Given the description of an element on the screen output the (x, y) to click on. 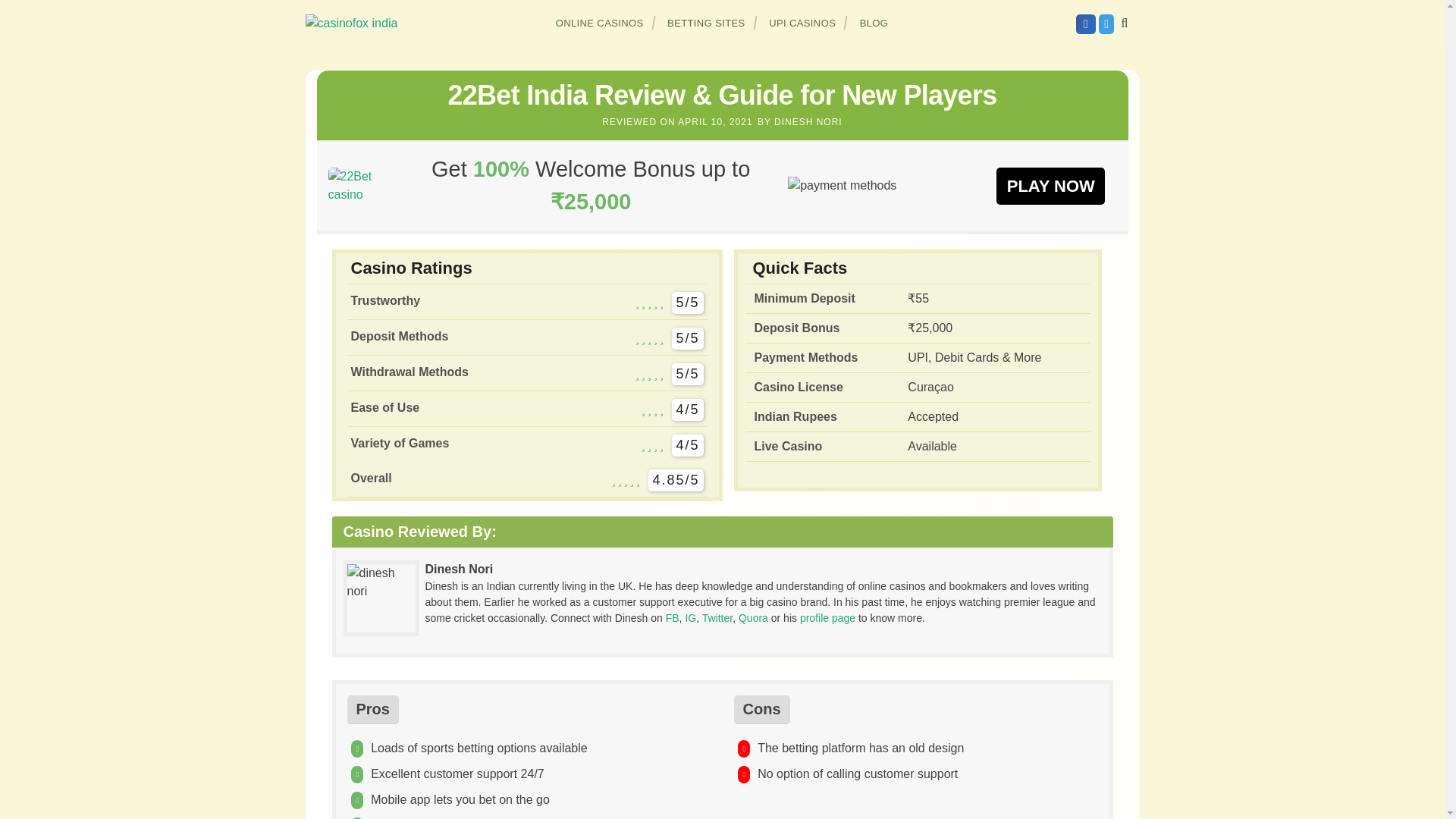
22Bet (360, 185)
BETTING SITES (706, 23)
FB (672, 617)
IG (689, 617)
BLOG (874, 23)
ONLINE CASINOS (599, 23)
PLAY NOW (1050, 185)
Quora (753, 617)
profile page (827, 617)
UPI CASINOS (801, 23)
22Bet (1050, 185)
Twitter (716, 617)
